Given the description of an element on the screen output the (x, y) to click on. 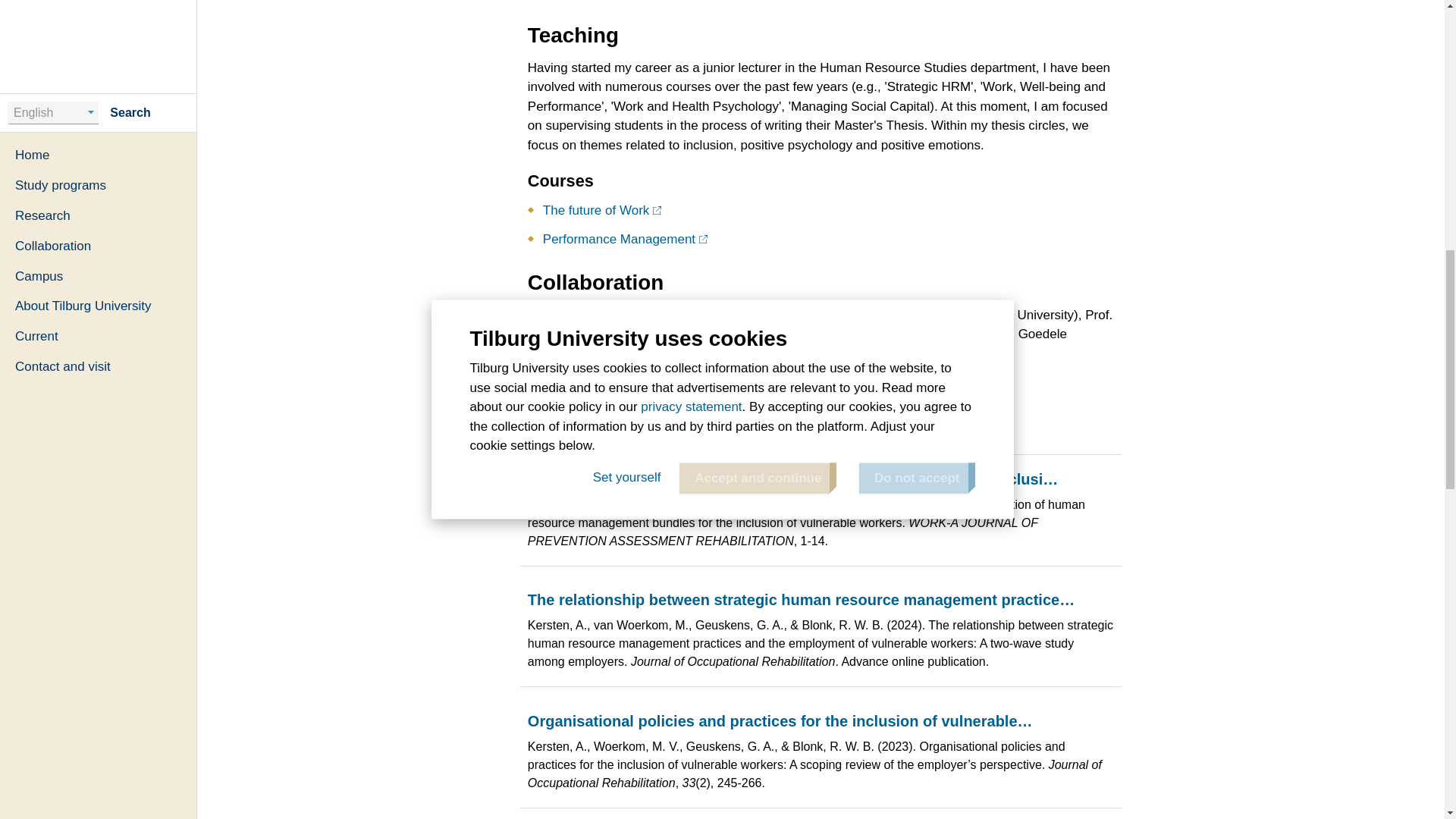
The future of Work (602, 210)
Performance Management (625, 238)
